Given the description of an element on the screen output the (x, y) to click on. 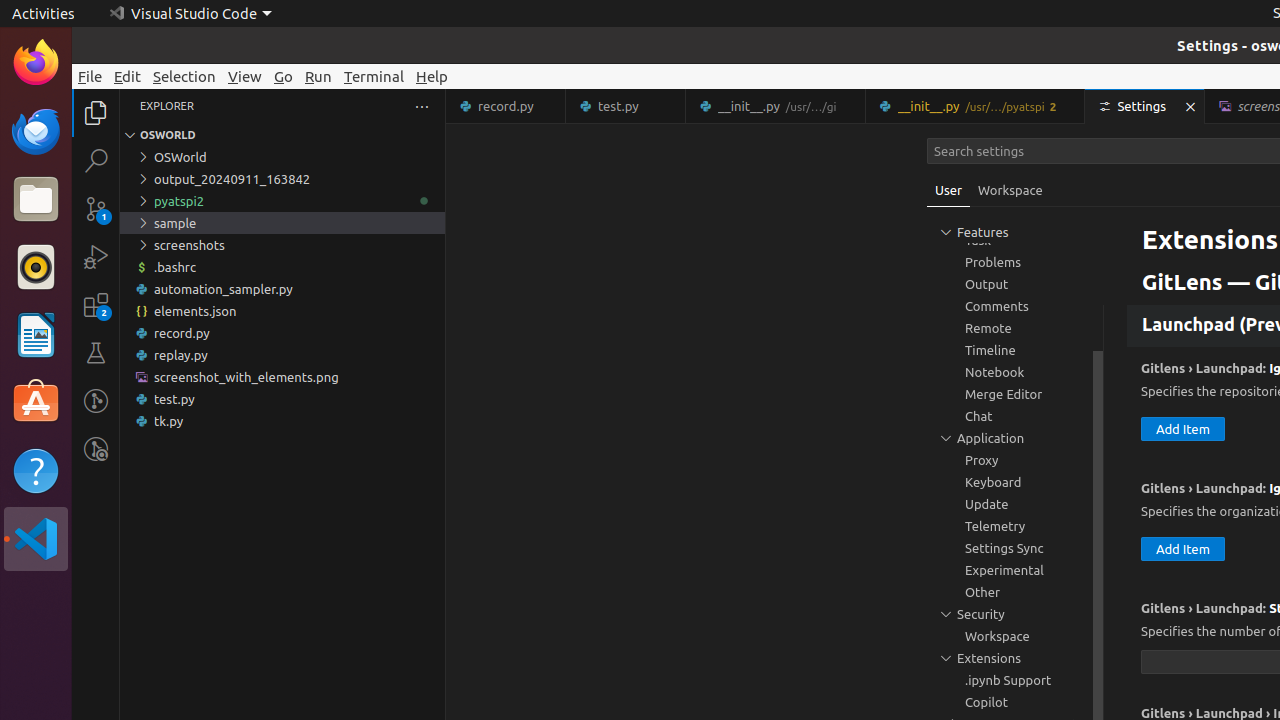
Update, group Element type: tree-item (1015, 504)
screenshots Element type: tree-item (282, 245)
.ipynb Support, group Element type: tree-item (1015, 680)
Timeline, group Element type: tree-item (1015, 350)
File Element type: push-button (90, 76)
